Given the description of an element on the screen output the (x, y) to click on. 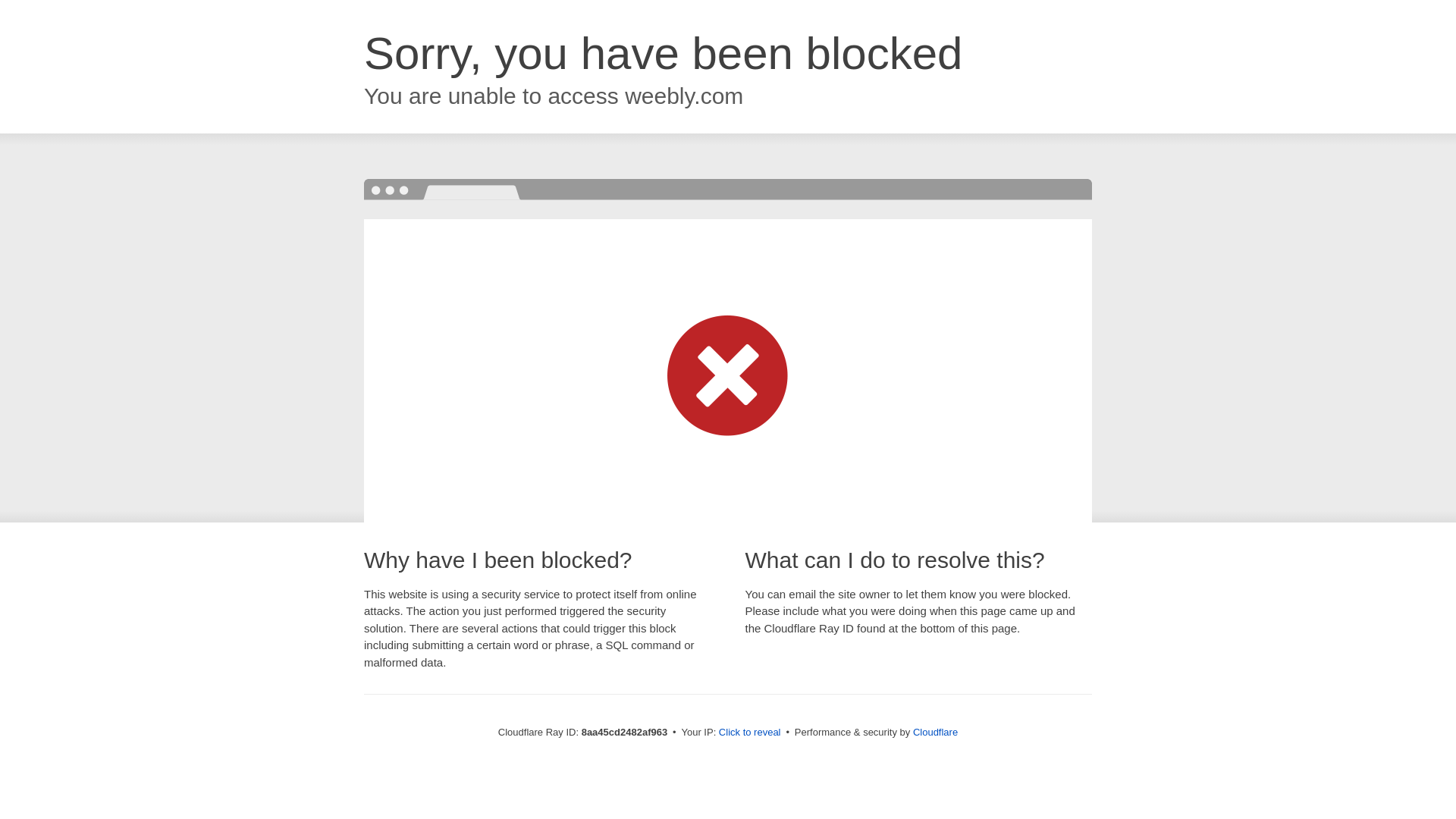
Click to reveal (749, 732)
Cloudflare (935, 731)
